Given the description of an element on the screen output the (x, y) to click on. 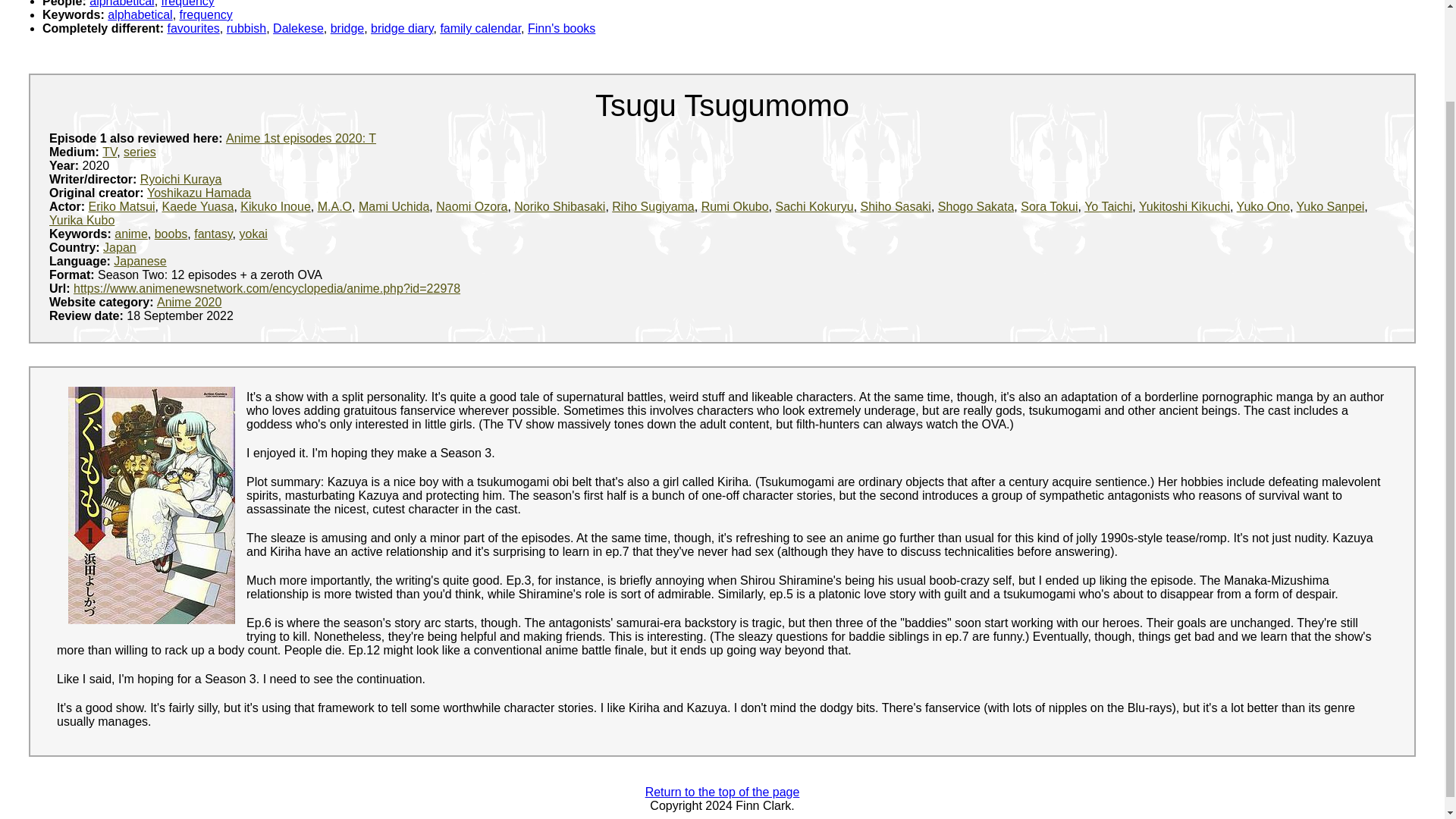
Ryoichi Kuraya (180, 178)
boobs (170, 233)
Kikuko Inoue (275, 205)
series (139, 151)
Rumi Okubo (734, 205)
Yoshikazu Hamada (198, 192)
Eriko Matsui (121, 205)
anime (131, 233)
Naomi Ozora (470, 205)
Kaede Yuasa (196, 205)
